Given the description of an element on the screen output the (x, y) to click on. 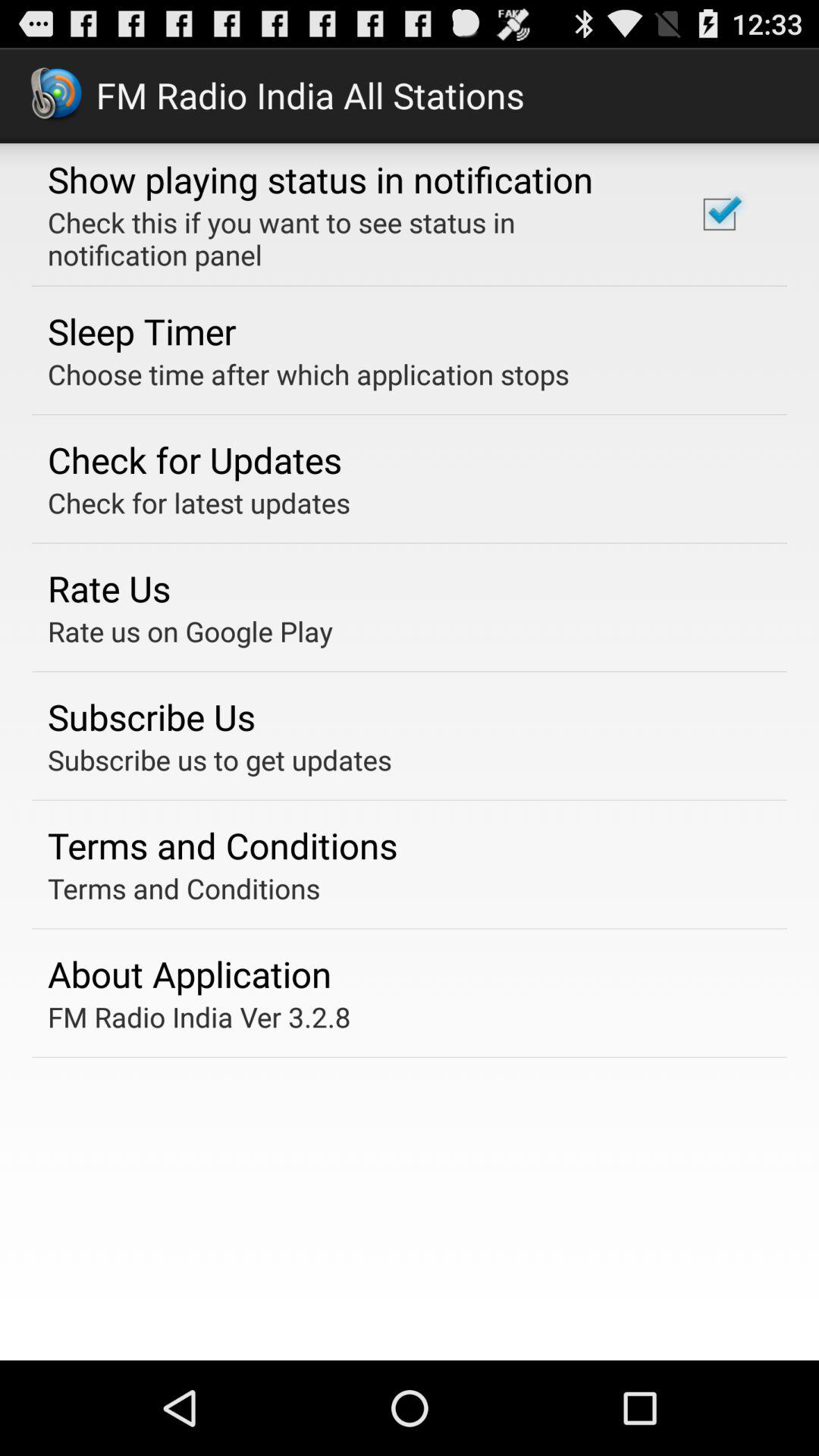
open item next to the check this if item (719, 214)
